Given the description of an element on the screen output the (x, y) to click on. 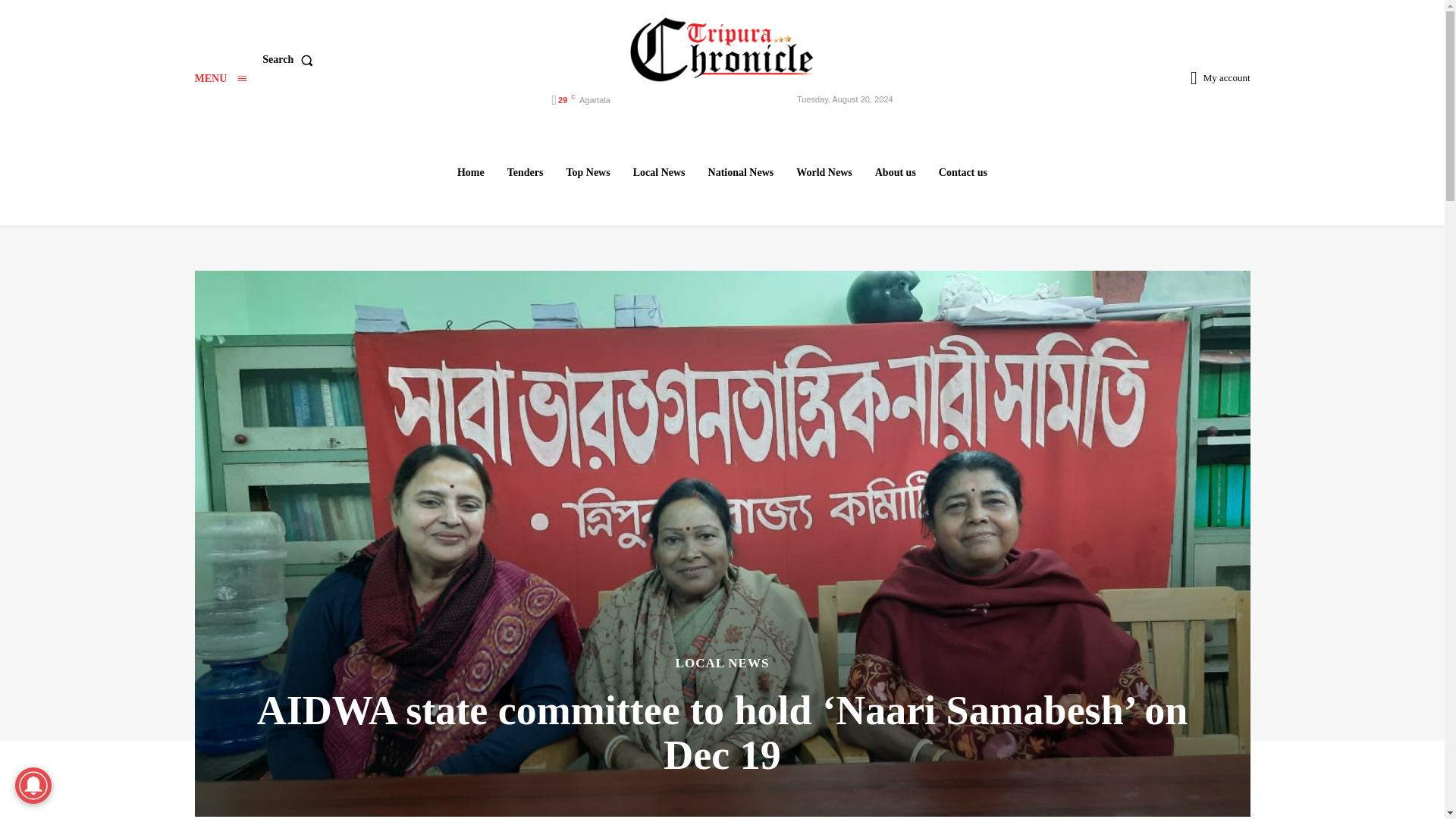
World News (824, 172)
Tenders (525, 172)
Local News (659, 172)
MENU (220, 78)
Menu (220, 78)
Top News (587, 172)
Home (470, 172)
Search (290, 60)
National News (740, 172)
